Given the description of an element on the screen output the (x, y) to click on. 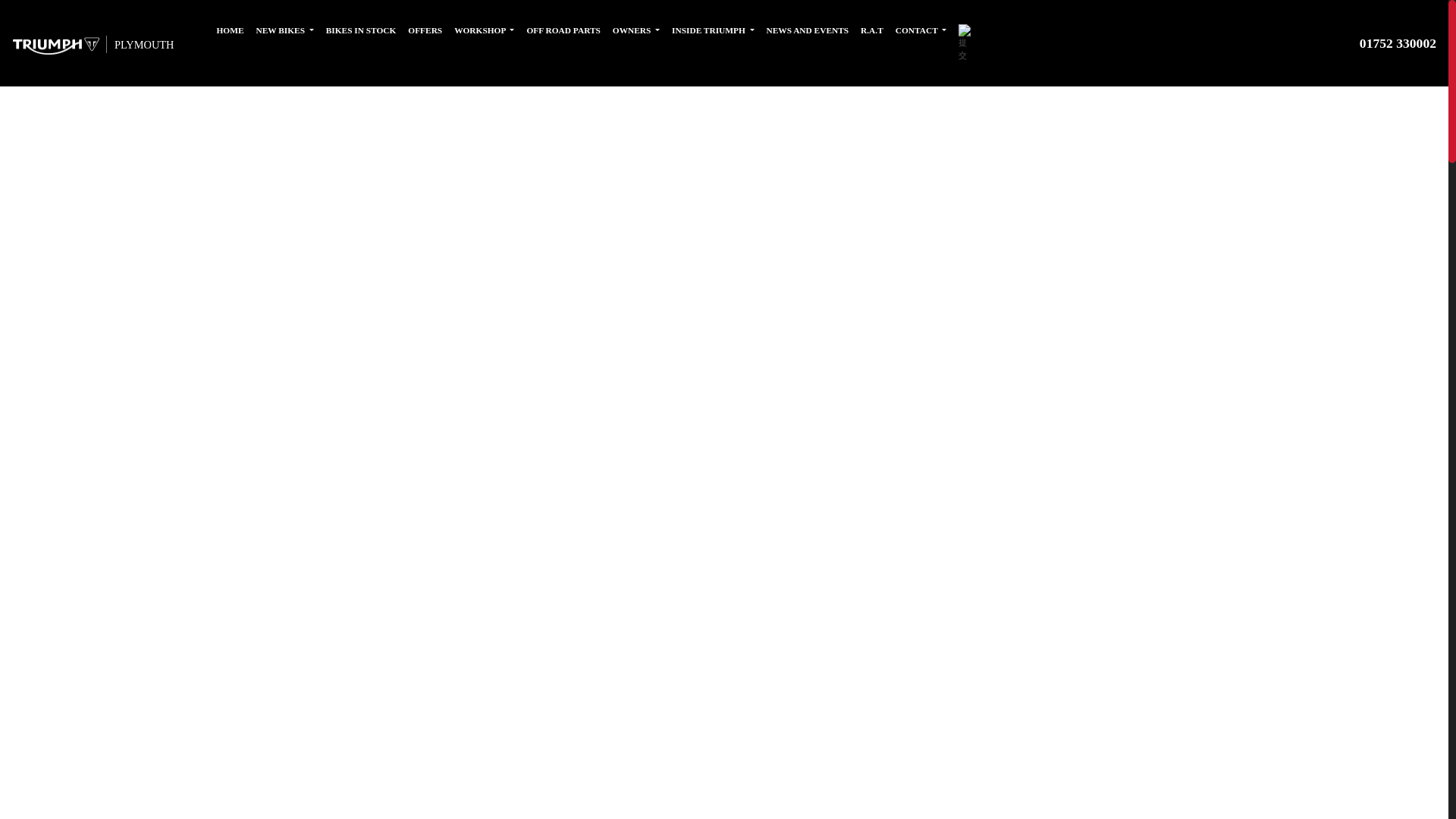
Bikes In Stock (361, 30)
OFFERS (424, 30)
INSIDE TRIUMPH (712, 30)
R.A.T (871, 30)
HOME (230, 30)
OWNERS (636, 30)
Home (230, 30)
01752 330002 (1397, 43)
CONTACT (921, 30)
Offers (424, 30)
NEW BIKES (285, 30)
BIKES IN STOCK (361, 30)
NEWS AND EVENTS (807, 30)
OFF ROAD PARTS (562, 30)
Off Road Parts (562, 30)
